Given the description of an element on the screen output the (x, y) to click on. 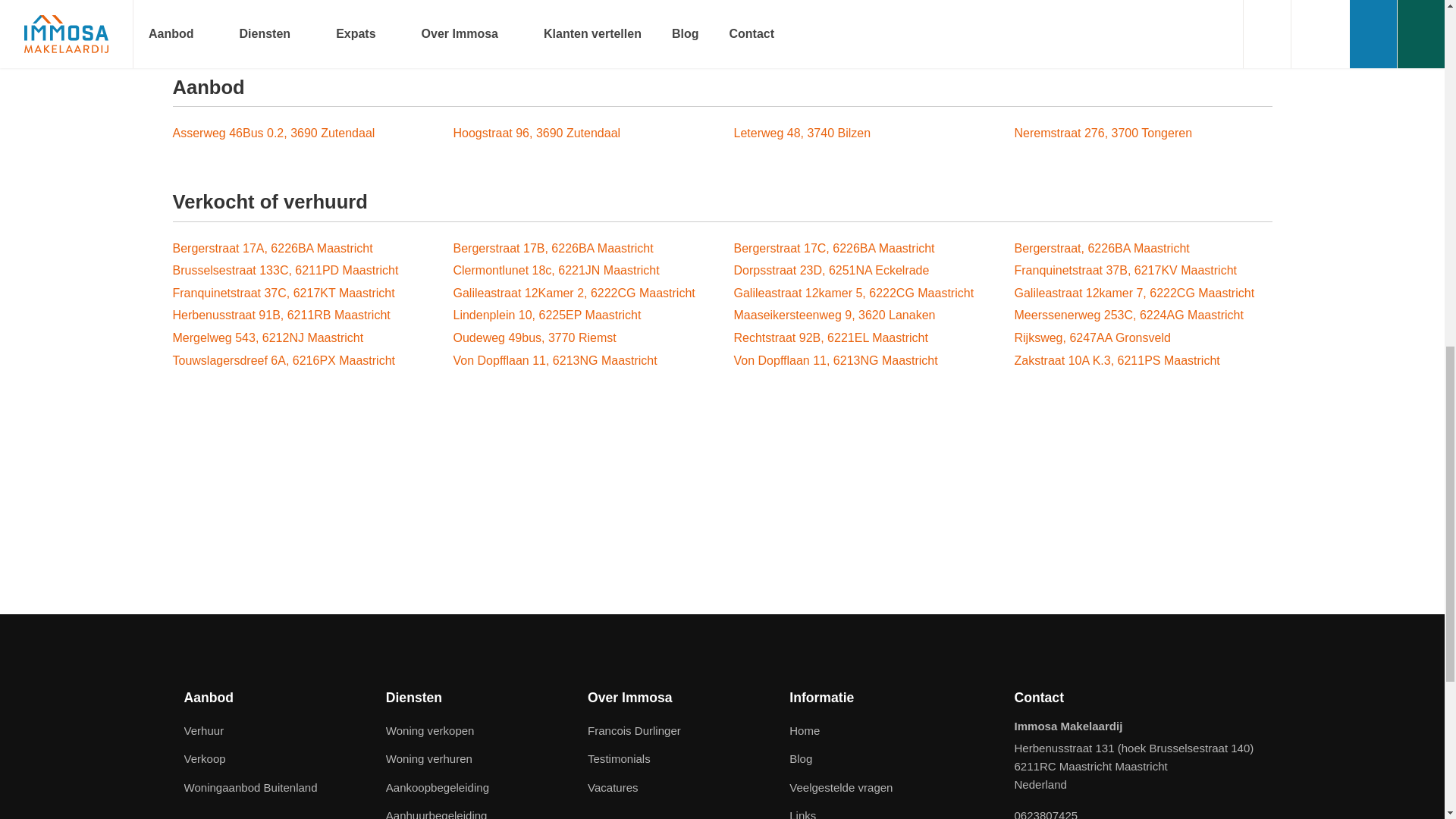
Leterweg 48, 3740 Bilzen (862, 133)
Bergerstraat 17C, 6226BA Maastricht (862, 248)
Bergerstraat 17A, 6226BA Maastricht (301, 248)
Dorpsstraat 23D, 6251NA Eckelrade (862, 270)
Bergerstraat, 6226BA Maastricht (1143, 248)
Clermontlunet 18c, 6221JN Maastricht (581, 270)
Bergerstraat 17B, 6226BA Maastricht (581, 248)
Asserweg 46Bus  0.2, 3690 Zutendaal (301, 133)
Neremstraat 276, 3700 Tongeren (1143, 133)
Hoogstraat 96, 3690 Zutendaal (581, 133)
